Given the description of an element on the screen output the (x, y) to click on. 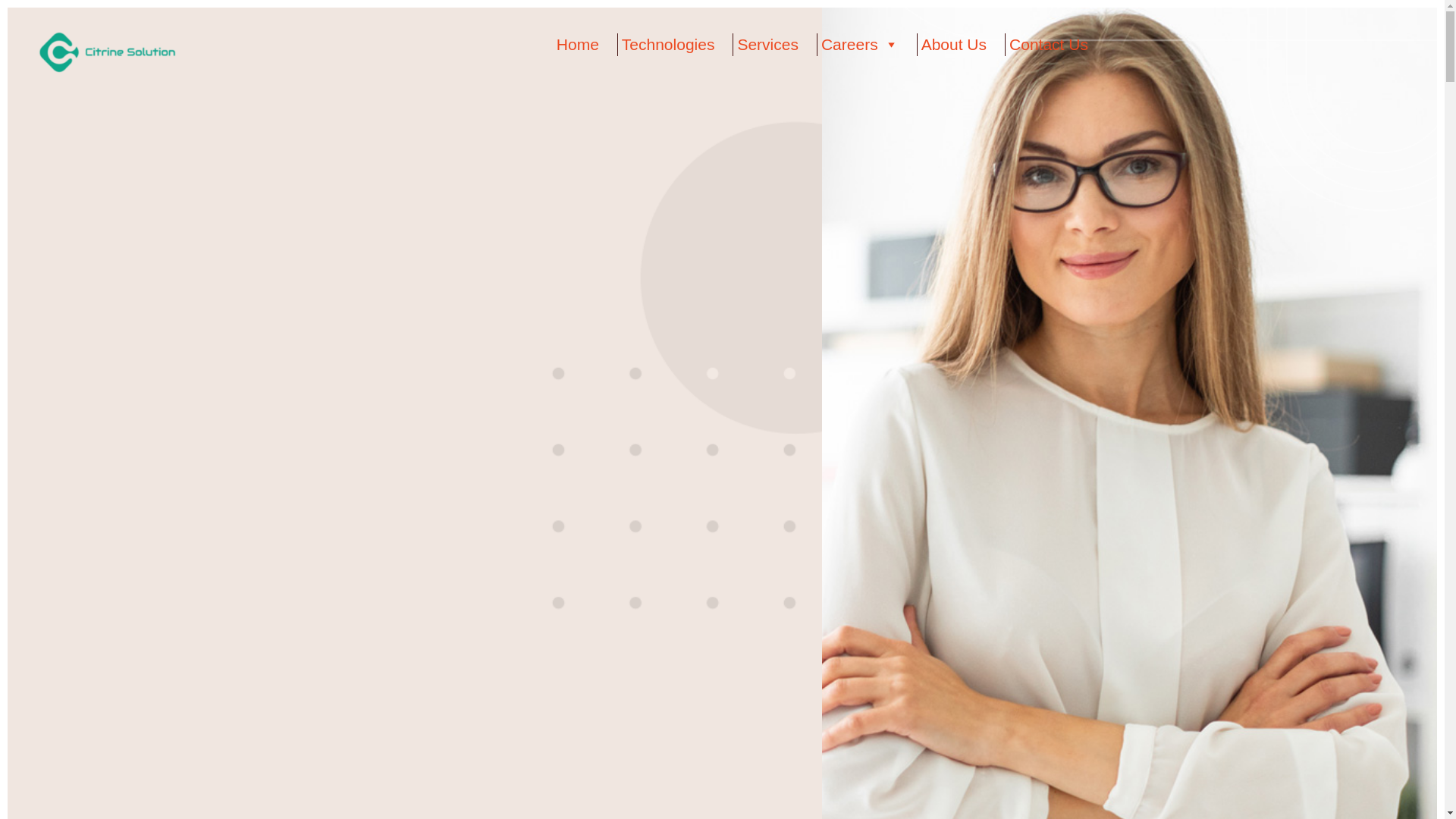
About Us (953, 44)
Home (577, 44)
Citrine Solution (106, 51)
Careers (859, 44)
Technologies (668, 44)
Services (767, 44)
Contact Us (1049, 44)
